Given the description of an element on the screen output the (x, y) to click on. 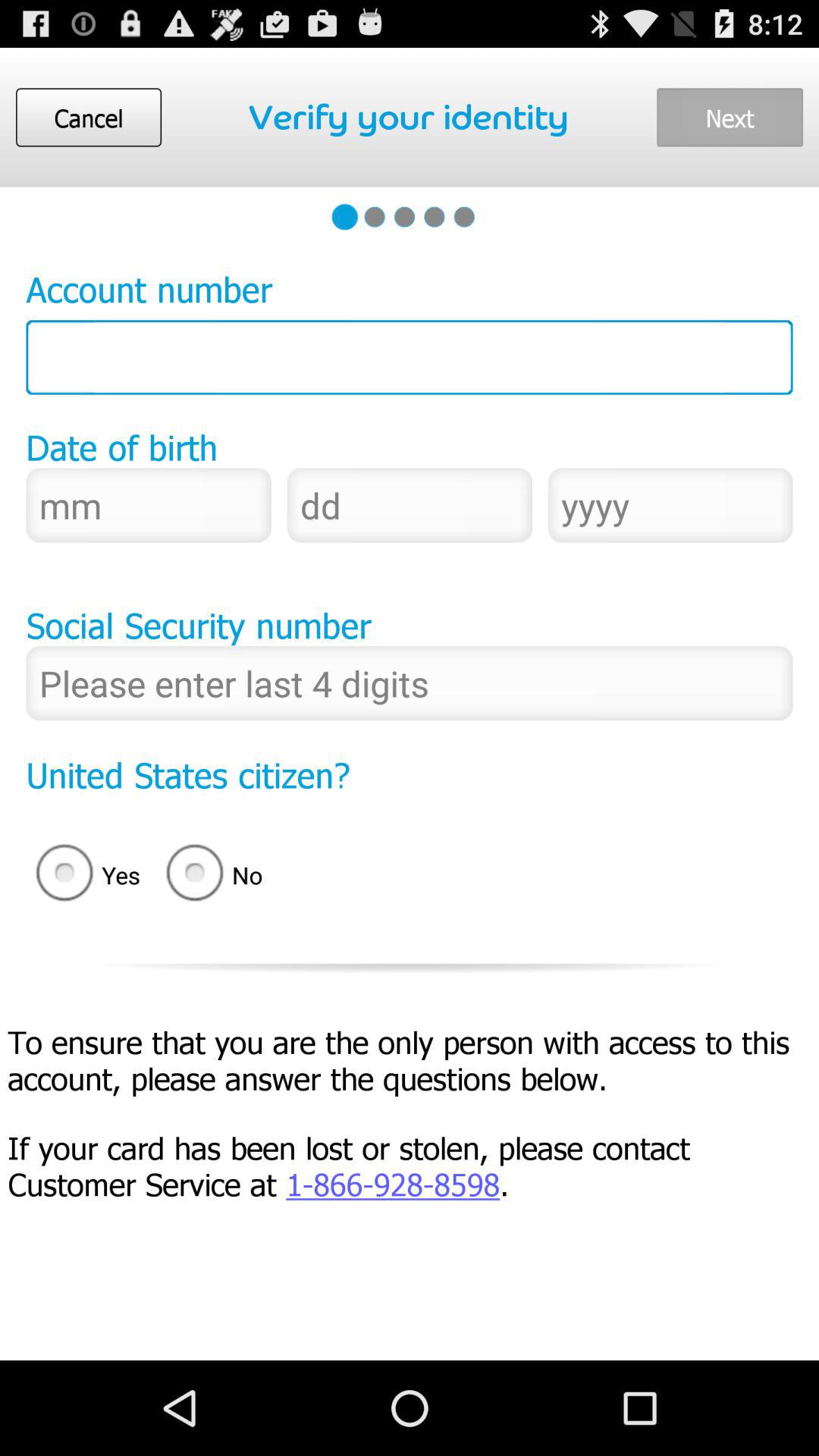
launch the item to the left of the no item (83, 875)
